Given the description of an element on the screen output the (x, y) to click on. 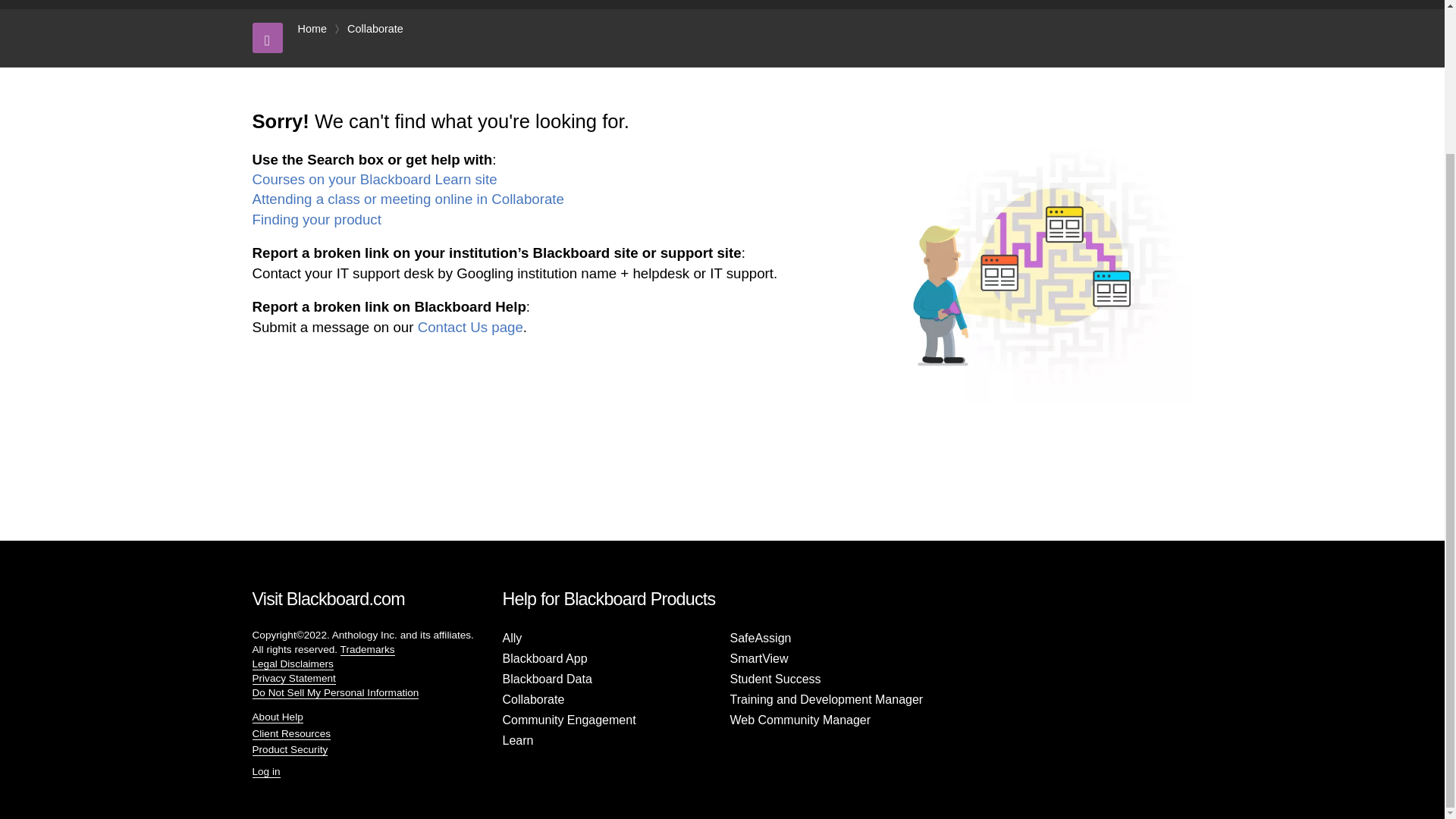
Collaborate (375, 28)
Home (311, 28)
